Given the description of an element on the screen output the (x, y) to click on. 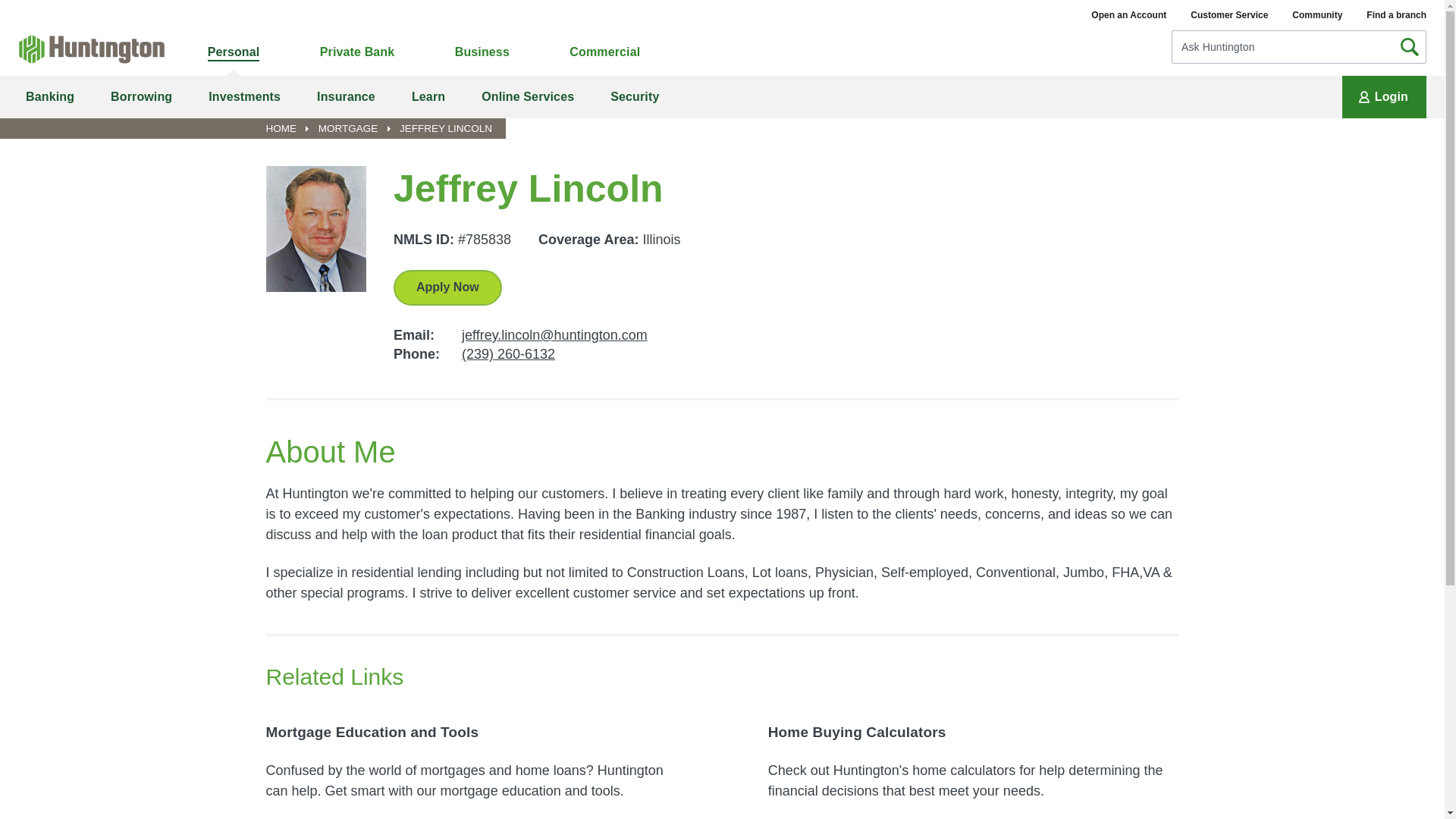
Huntington Customer Service (1229, 14)
Personal (234, 51)
Banking (50, 96)
Community (1317, 14)
Commercial (604, 51)
Customer Service (1229, 14)
Business (481, 51)
Private Bank (357, 51)
Skip to navigation (11, 9)
Huntington in the Community (1317, 14)
